Given the description of an element on the screen output the (x, y) to click on. 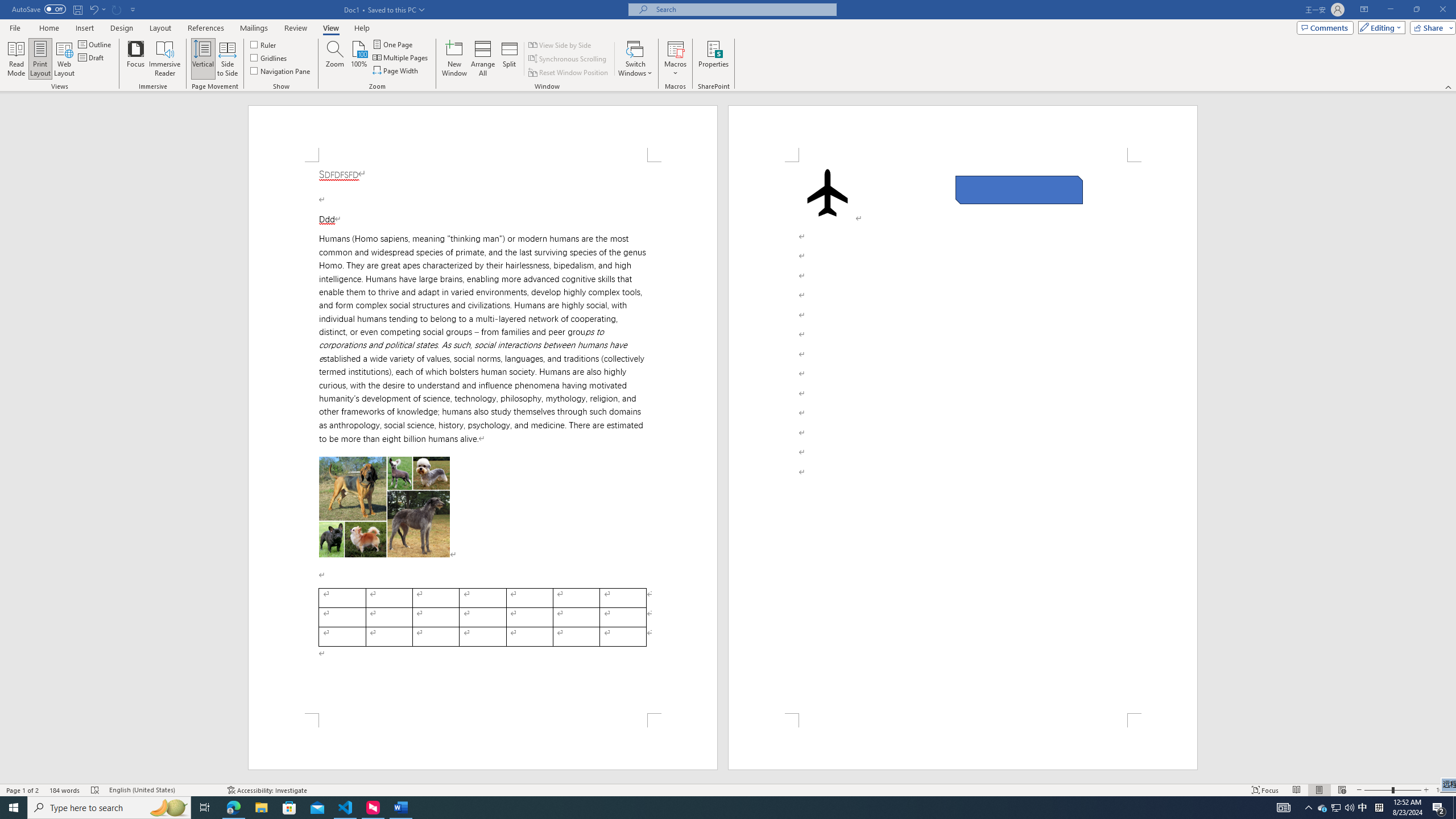
Macros (675, 58)
Outline (95, 44)
Reset Window Position (569, 72)
Navigation Pane (281, 69)
Properties (713, 58)
Undo Apply Quick Style Set (92, 9)
Zoom... (334, 58)
Microsoft Edge - 1 running window (233, 807)
Focus  (1265, 790)
Show desktop (1454, 807)
Word Count 184 words (64, 790)
More Options (675, 68)
Share (1430, 27)
Quick Access Toolbar (74, 9)
